Given the description of an element on the screen output the (x, y) to click on. 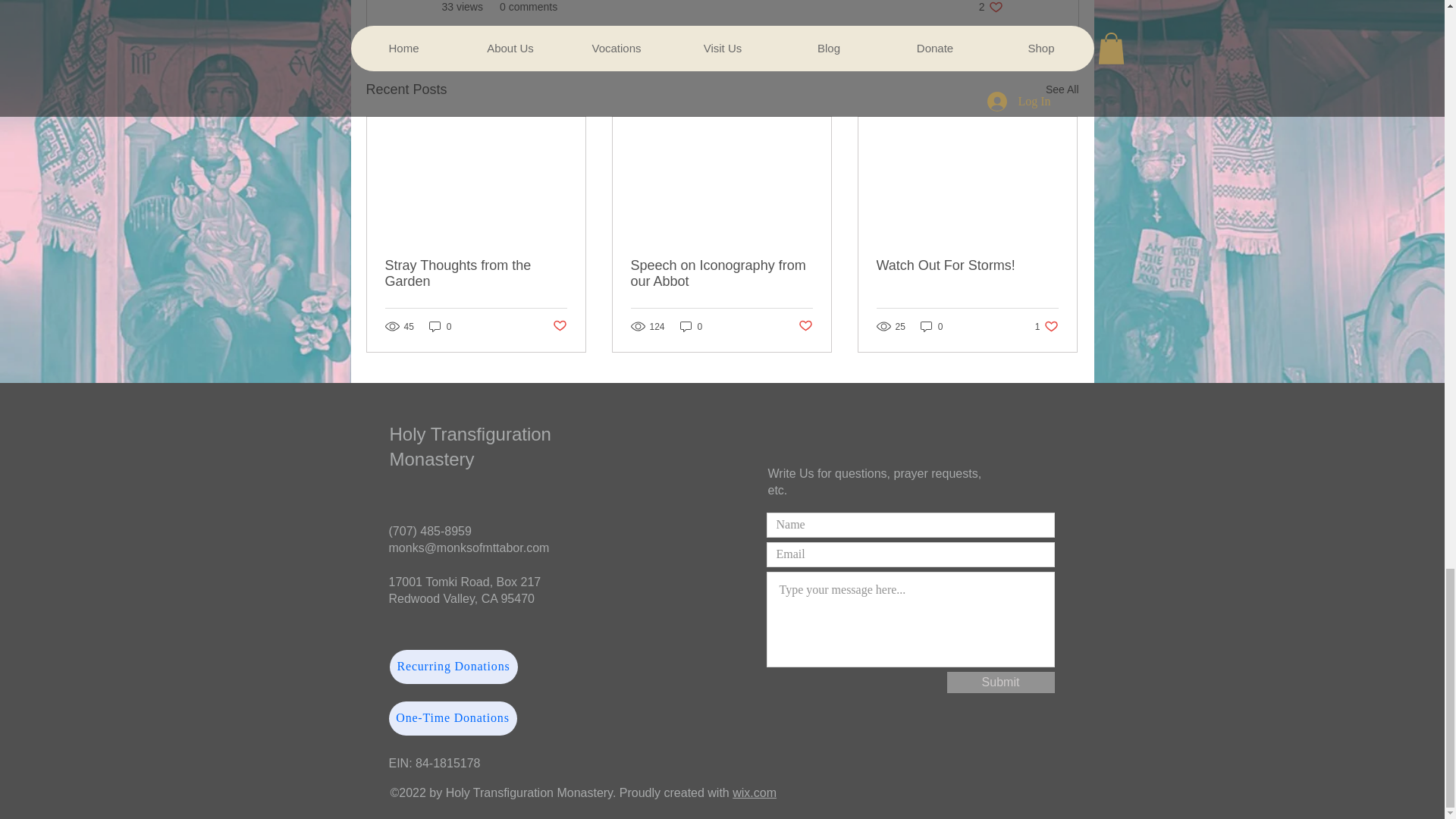
Recurring Donations (454, 666)
Post not marked as liked (804, 326)
See All (1061, 89)
0 (440, 326)
One-Time Donations (990, 7)
0 (452, 718)
Speech on Iconography from our Abbot (691, 326)
Post not marked as liked (1046, 326)
0 (721, 273)
wix.com (558, 326)
Watch Out For Storms! (931, 326)
Stray Thoughts from the Garden (754, 792)
Submit (967, 265)
